Given the description of an element on the screen output the (x, y) to click on. 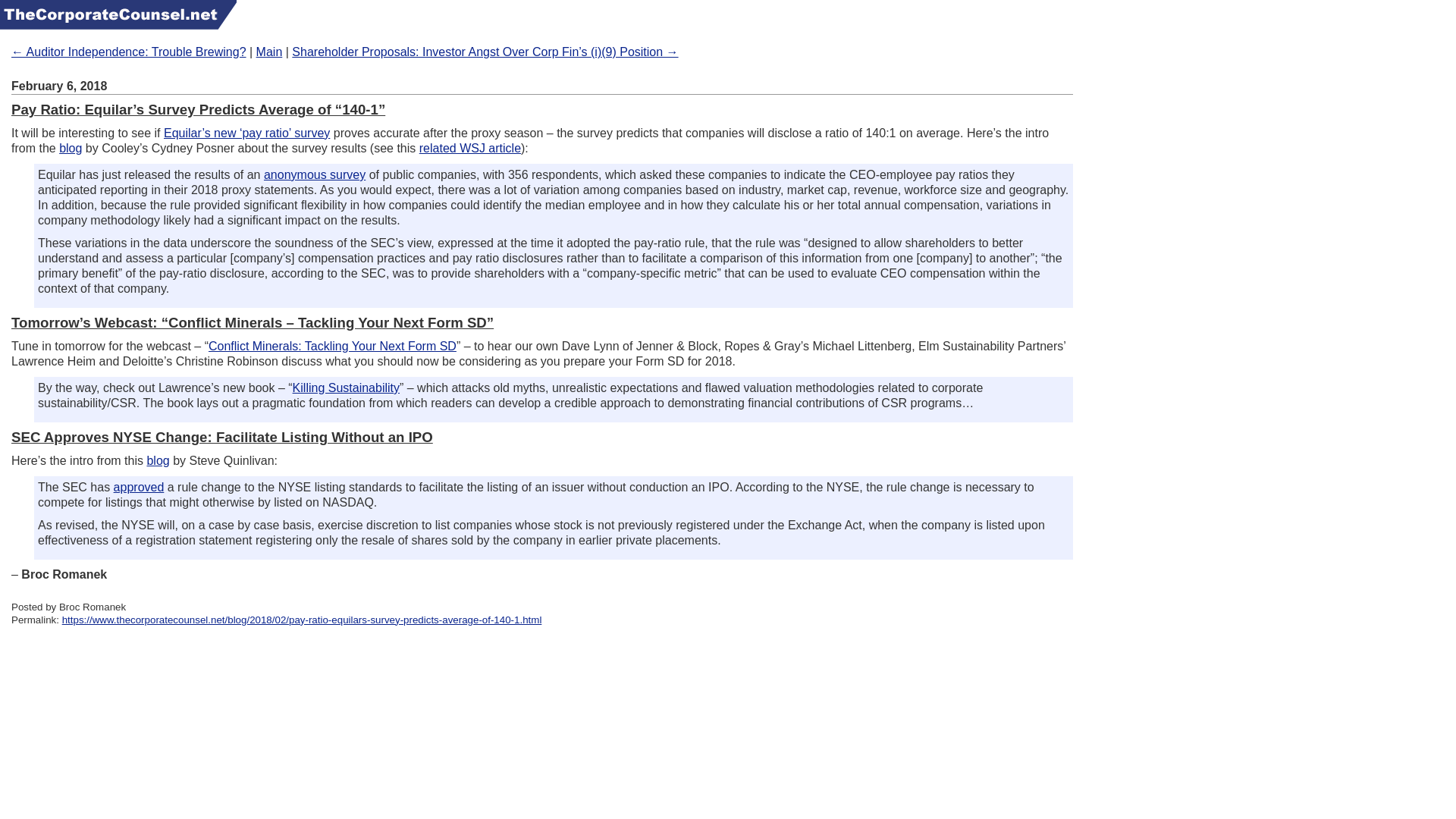
TheCorporateCounsel.net (117, 14)
Killing Sustainability (345, 387)
blog (70, 147)
approved (138, 486)
blog (157, 460)
anonymous survey (314, 174)
Main (269, 51)
Conflict Minerals: Tackling Your Next Form SD (332, 345)
related WSJ article (470, 147)
